Given the description of an element on the screen output the (x, y) to click on. 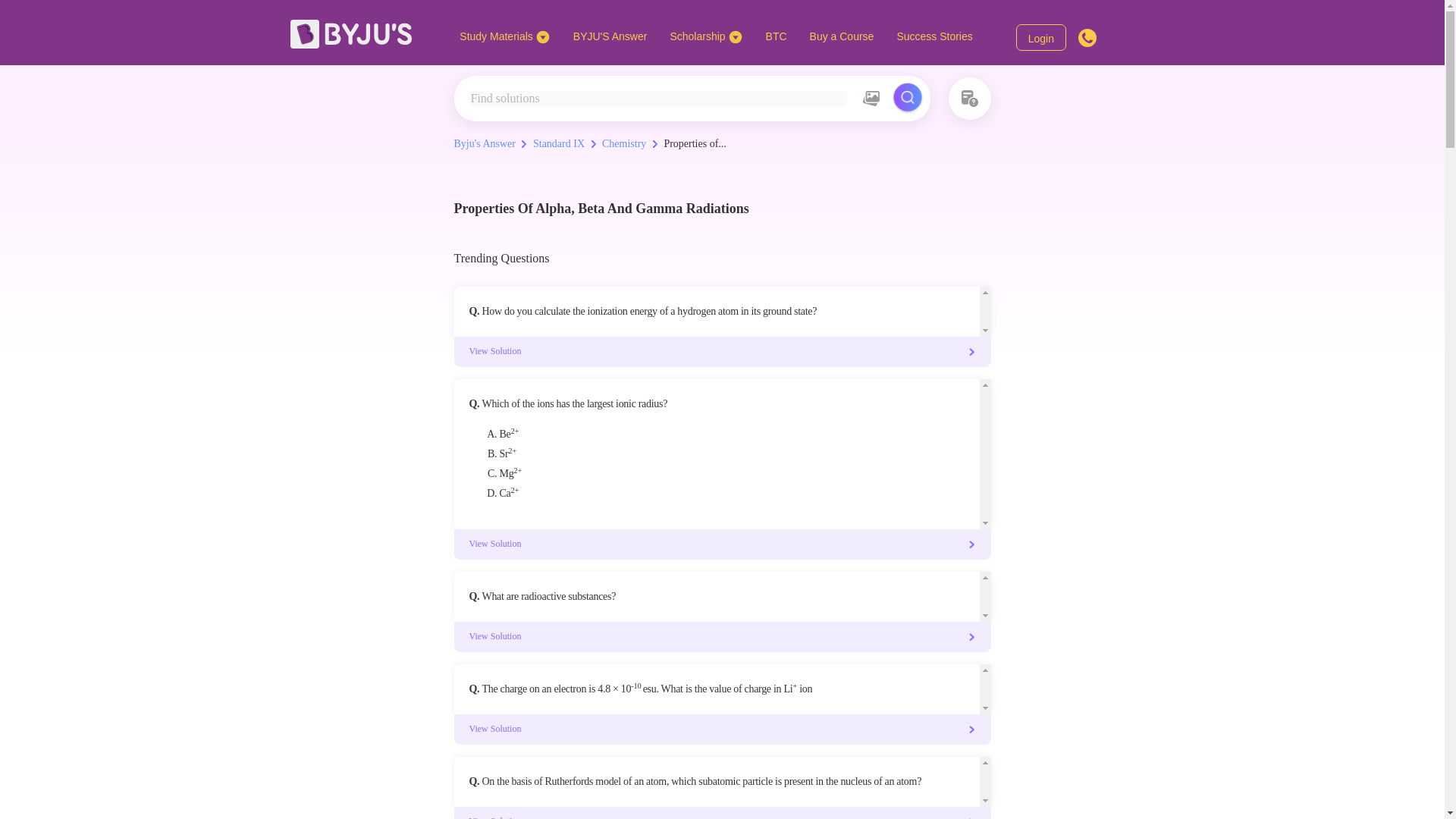
Study Materials (504, 35)
